Given the description of an element on the screen output the (x, y) to click on. 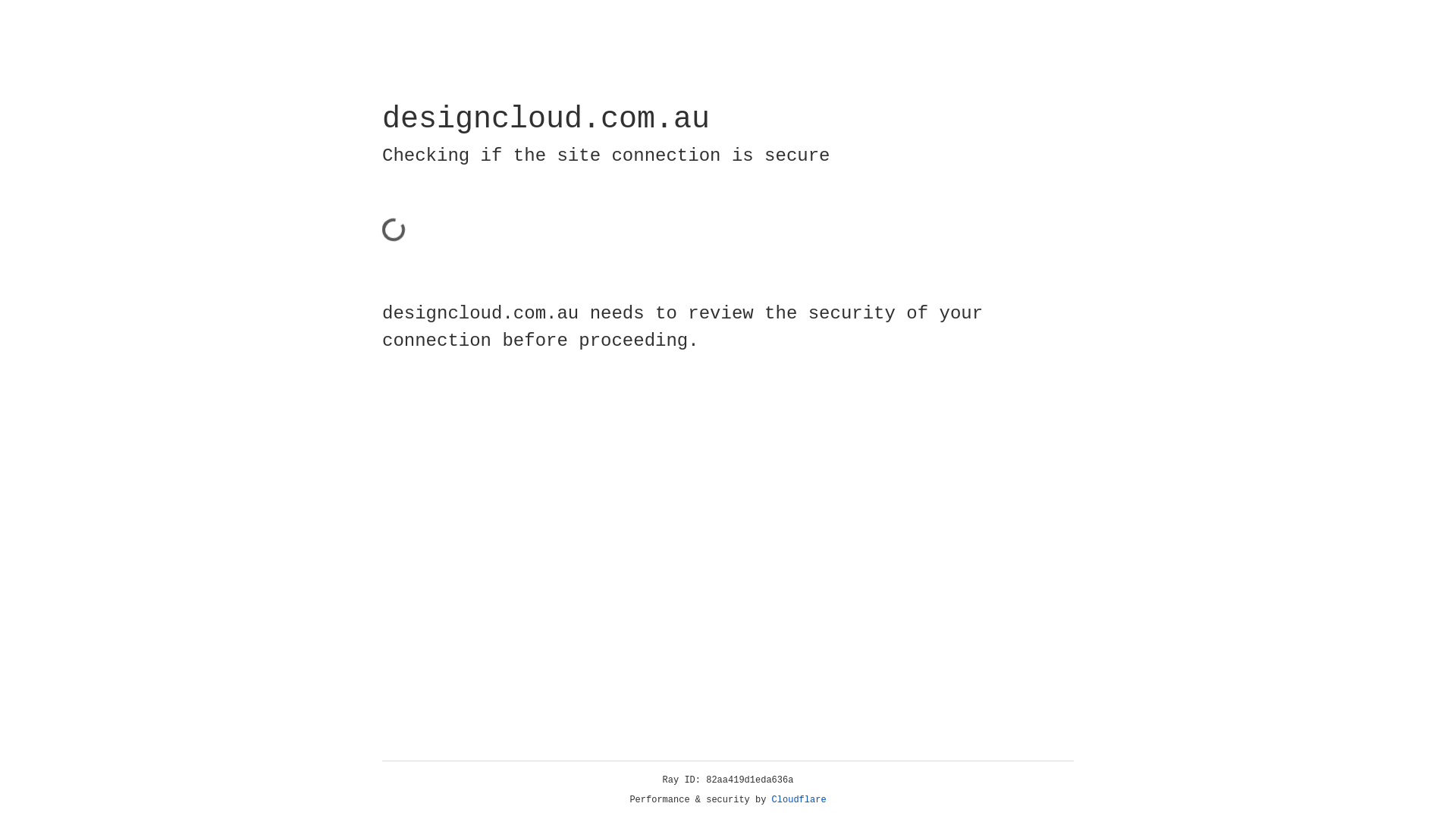
Cloudflare Element type: text (798, 799)
